Given the description of an element on the screen output the (x, y) to click on. 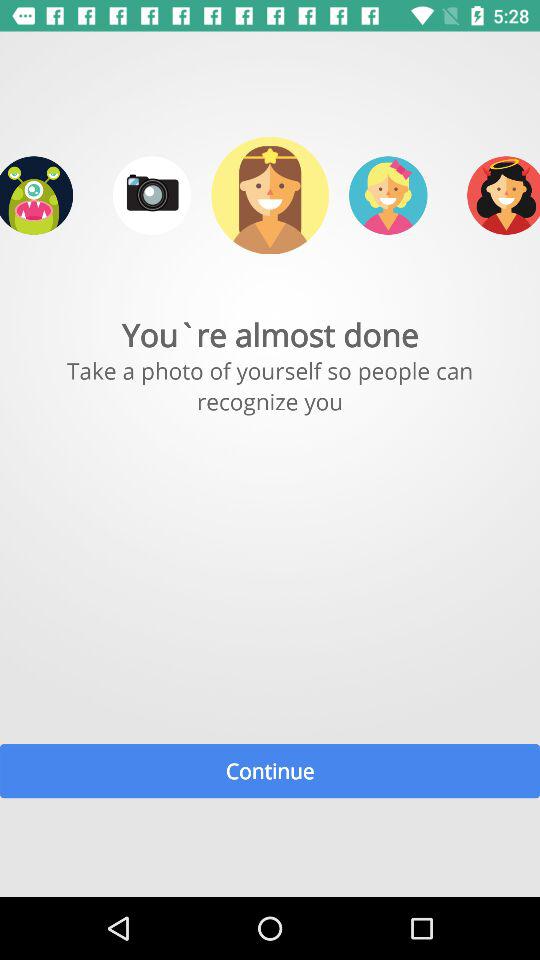
open the continue item (270, 770)
